Given the description of an element on the screen output the (x, y) to click on. 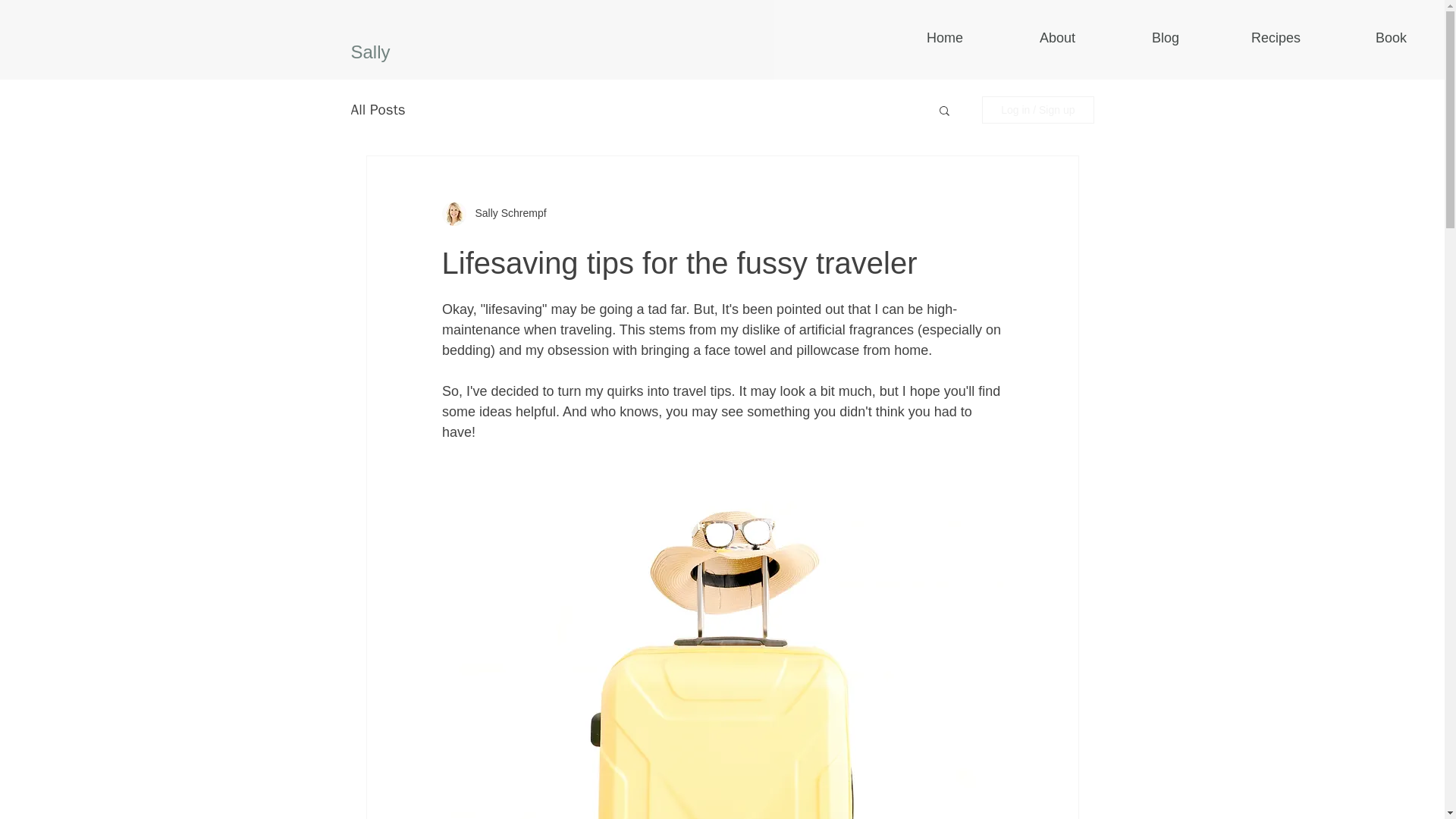
Recipes (1246, 37)
Book (1360, 37)
Sally Schrempf (505, 213)
Home (915, 37)
Blog (1134, 37)
All Posts (377, 109)
About (1027, 37)
